Given the description of an element on the screen output the (x, y) to click on. 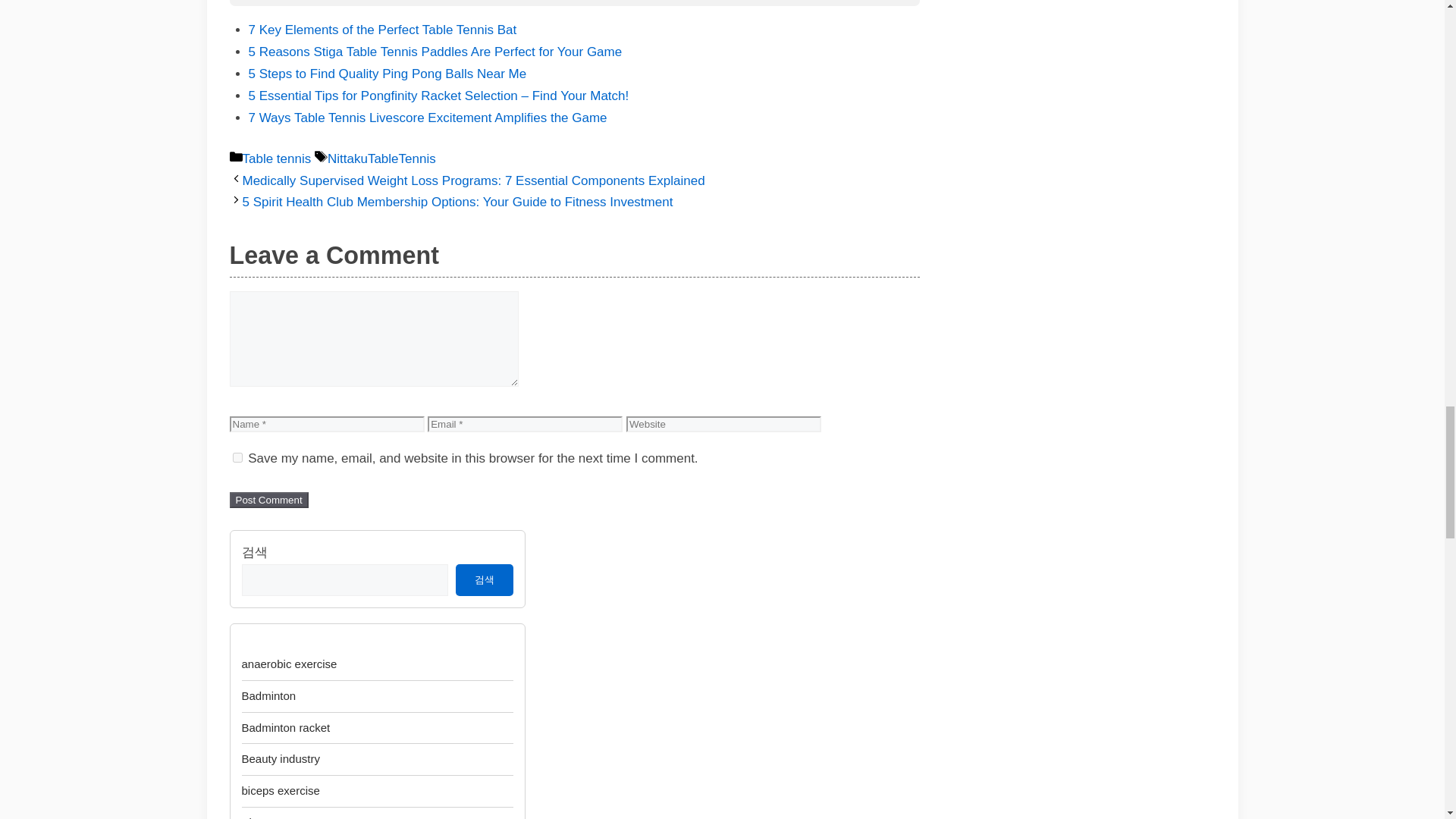
biceps exercise (279, 789)
anaerobic exercise (288, 663)
yes (236, 457)
NittakuTableTennis (381, 158)
Beauty industry (279, 758)
Post Comment (267, 499)
Blog (252, 817)
7 Ways Table Tennis Livescore Excitement Amplifies the Game (427, 117)
Table tennis (277, 158)
Badminton racket (285, 726)
Post Comment (267, 499)
5 Steps to Find Quality Ping Pong Balls Near Me (387, 73)
